Given the description of an element on the screen output the (x, y) to click on. 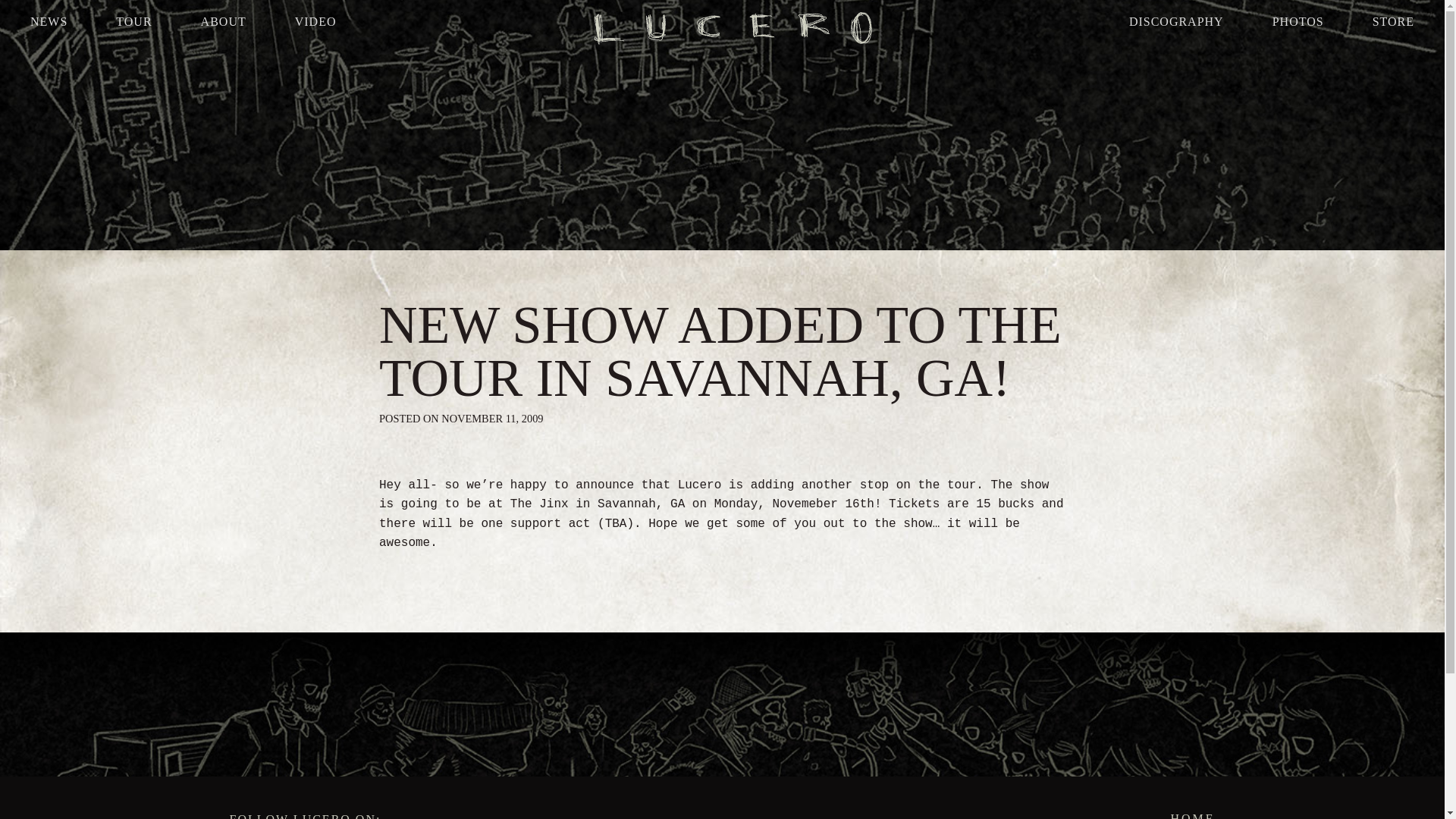
STORE (1393, 21)
VIDEO (315, 21)
NEWS (48, 21)
HOME (974, 816)
NOVEMBER 11, 2009 (492, 418)
TOUR (133, 21)
PHOTOS (1297, 21)
ABOUT (223, 21)
DISCOGRAPHY (1176, 21)
